Given the description of an element on the screen output the (x, y) to click on. 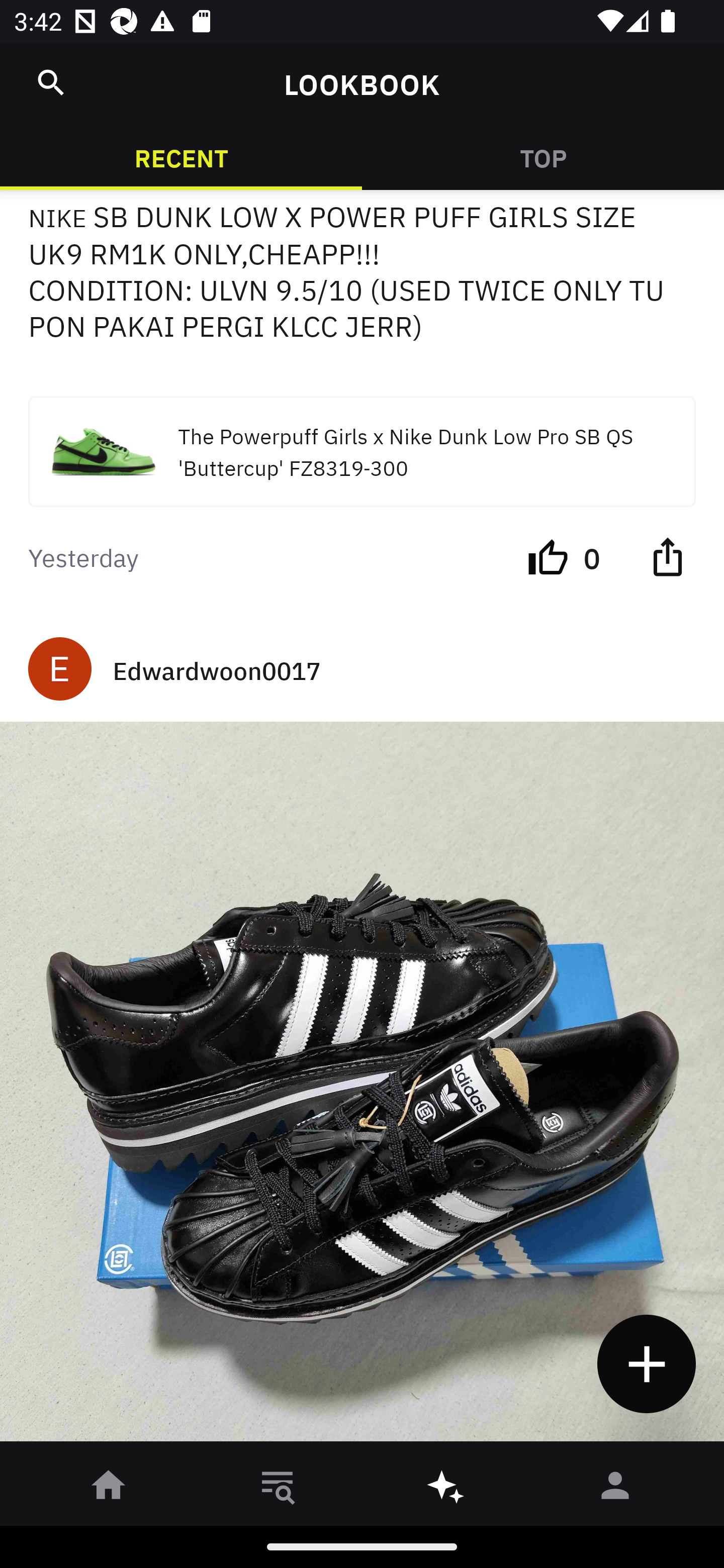
 (51, 82)
RECENT (181, 156)
TOP (543, 156)
󰔔 (547, 556)
 (667, 556)
󰋜 (108, 1488)
󱎸 (277, 1488)
󰫢 (446, 1488)
󰀄 (615, 1488)
